Given the description of an element on the screen output the (x, y) to click on. 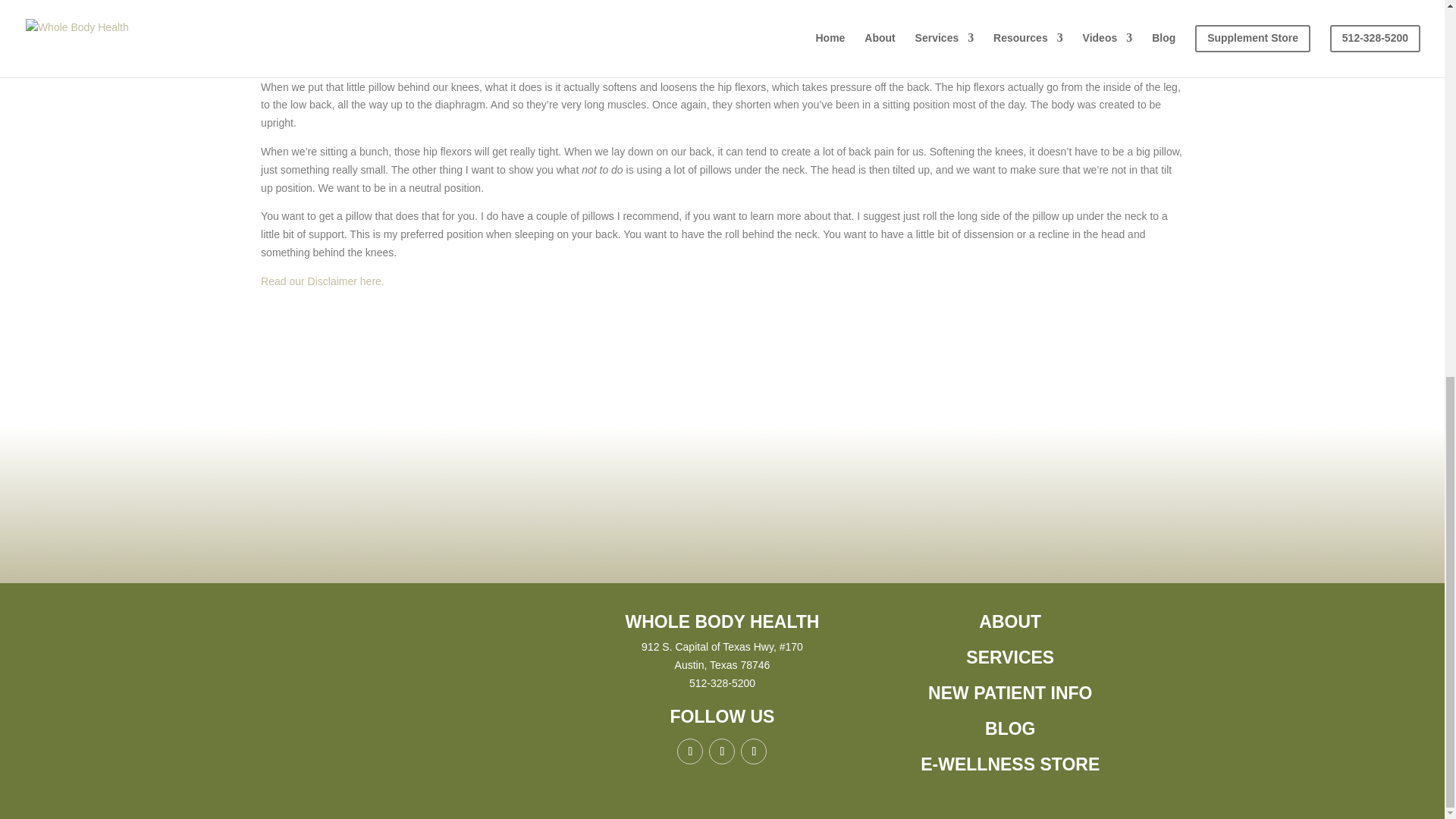
Follow on Instagram (722, 751)
Follow on Facebook (690, 751)
Follow on Youtube (754, 751)
WBHLogo (433, 667)
Read our Disclaimer here. (322, 281)
